Given the description of an element on the screen output the (x, y) to click on. 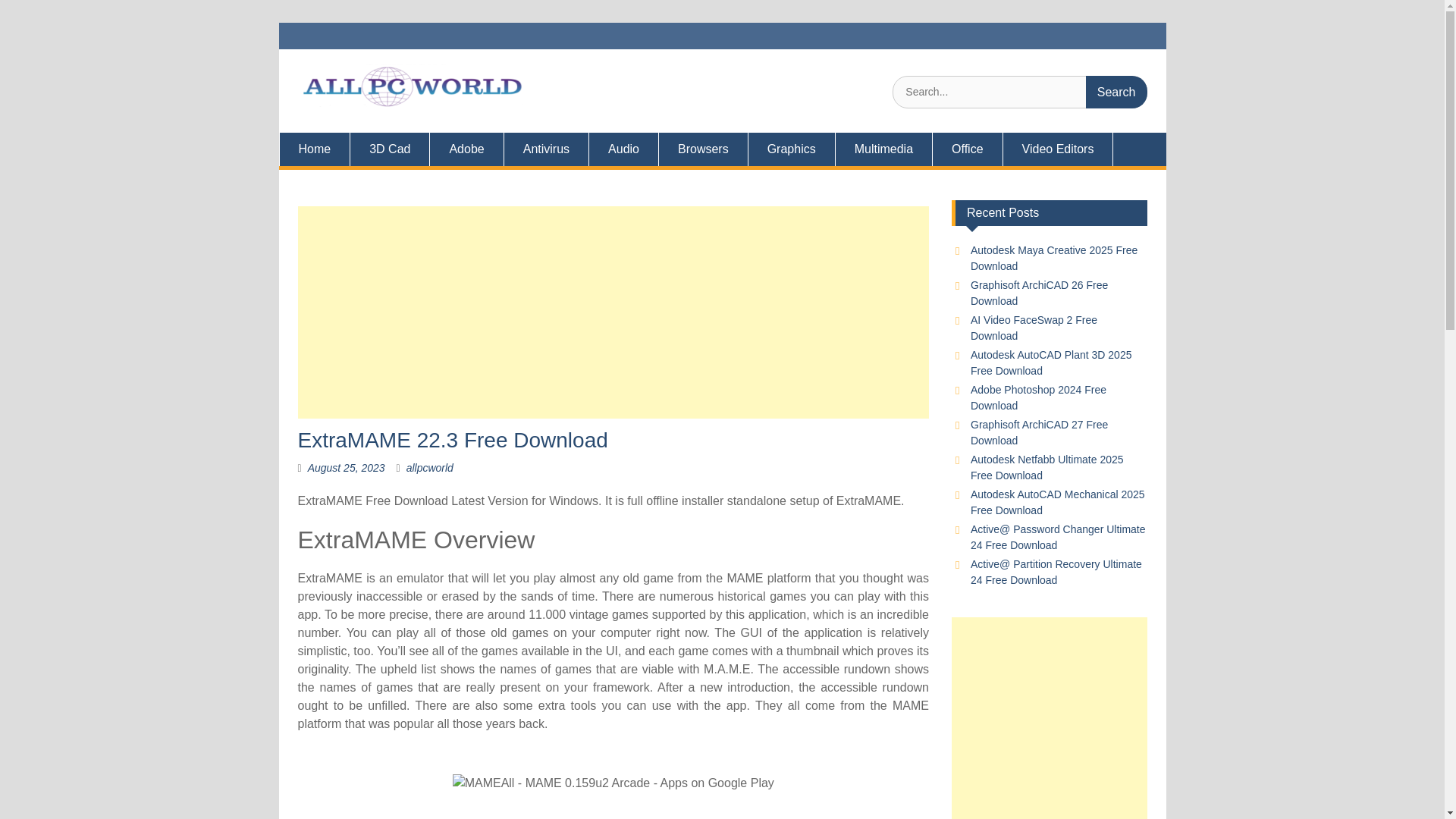
Multimedia (884, 149)
3D Cad (389, 149)
Search (1116, 92)
Adobe (466, 149)
Video Editors (1058, 149)
Audio (624, 149)
Antivirus (546, 149)
Advertisement (1049, 718)
Office (968, 149)
